Given the description of an element on the screen output the (x, y) to click on. 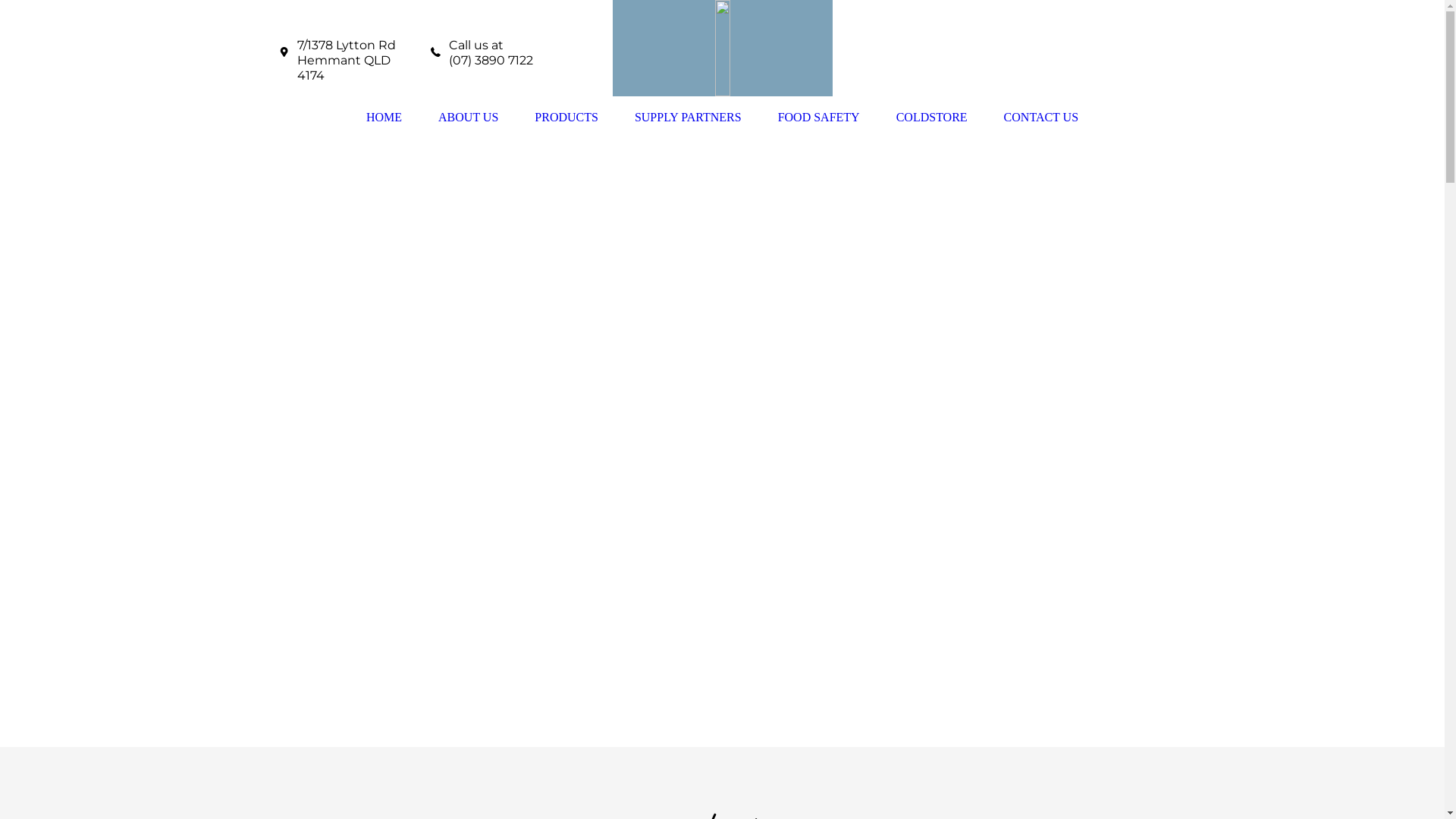
SUPPLY PARTNERS Element type: text (687, 117)
ABOUT US Element type: text (468, 117)
FOOD SAFETY Element type: text (818, 117)
HOME Element type: text (384, 117)
COLDSTORE Element type: text (931, 117)
CONTACT US Element type: text (1040, 117)
PRODUCTS Element type: text (566, 117)
